Given the description of an element on the screen output the (x, y) to click on. 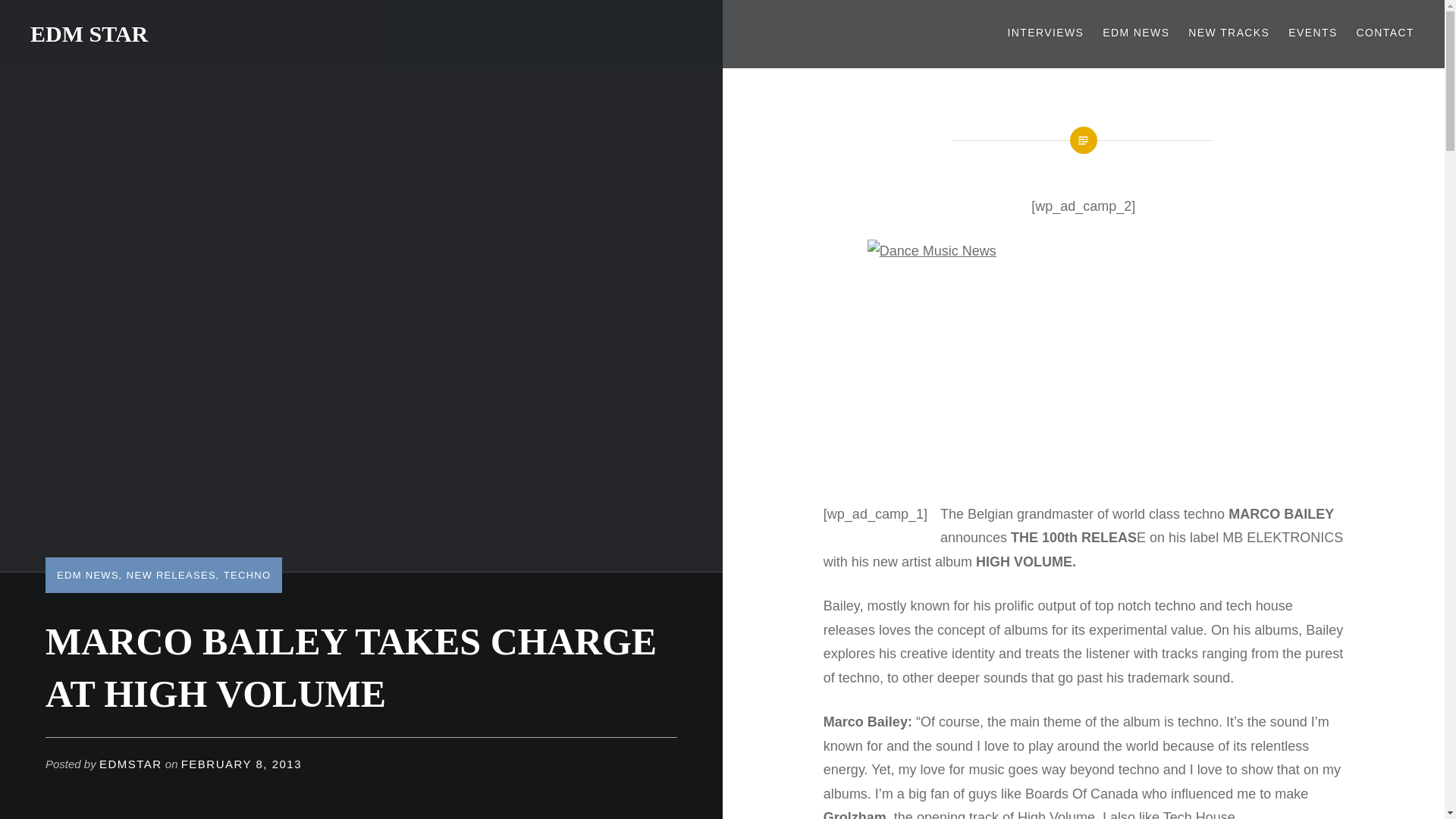
NEW RELEASES (170, 574)
INTERVIEWS (1045, 32)
FEBRUARY 8, 2013 (240, 763)
EDM STAR (89, 33)
EDM NEWS (1135, 32)
EDM NEWS (87, 574)
CONTACT (1384, 32)
EVENTS (1312, 32)
NEW TRACKS (1228, 32)
TECHNO (247, 574)
EDMSTAR (130, 763)
